Given the description of an element on the screen output the (x, y) to click on. 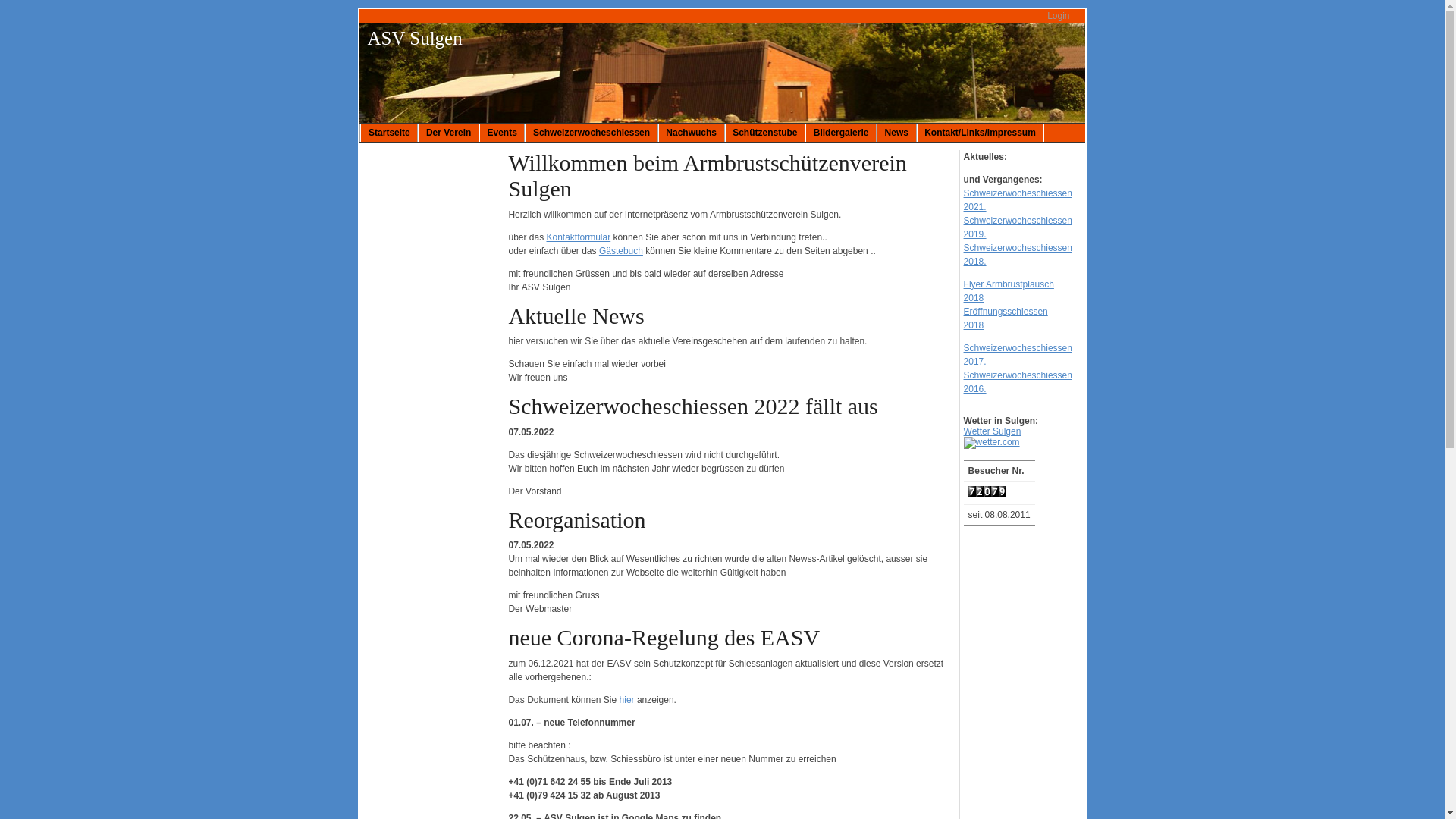
Flyer Armbrustplausch 2018 Element type: text (1008, 291)
Schweizerwocheschiessen Element type: text (590, 132)
Login Element type: text (1058, 15)
ASV Sulgen Element type: text (414, 38)
Schweizerwocheschiessen 2021. Element type: text (1017, 200)
Wetter Sulgen Element type: text (992, 431)
Der Verein Element type: text (448, 132)
Bildergalerie Element type: text (840, 132)
Events Element type: text (502, 132)
Schweizerwocheschiessen 2019. Element type: text (1017, 227)
Startseite Element type: text (388, 132)
Nachwuchs Element type: text (691, 132)
Schweizerwocheschiessen 2016. Element type: text (1017, 382)
Kontakt/Links/Impressum Element type: text (980, 132)
Schweizerwocheschiessen 2018. Element type: text (1017, 254)
Wetter in Sulgen Element type: hover (991, 442)
News Element type: text (896, 132)
Schweizerwocheschiessen 2017. Element type: text (1017, 354)
hier Element type: text (626, 699)
Kontaktformular Element type: text (578, 237)
